Given the description of an element on the screen output the (x, y) to click on. 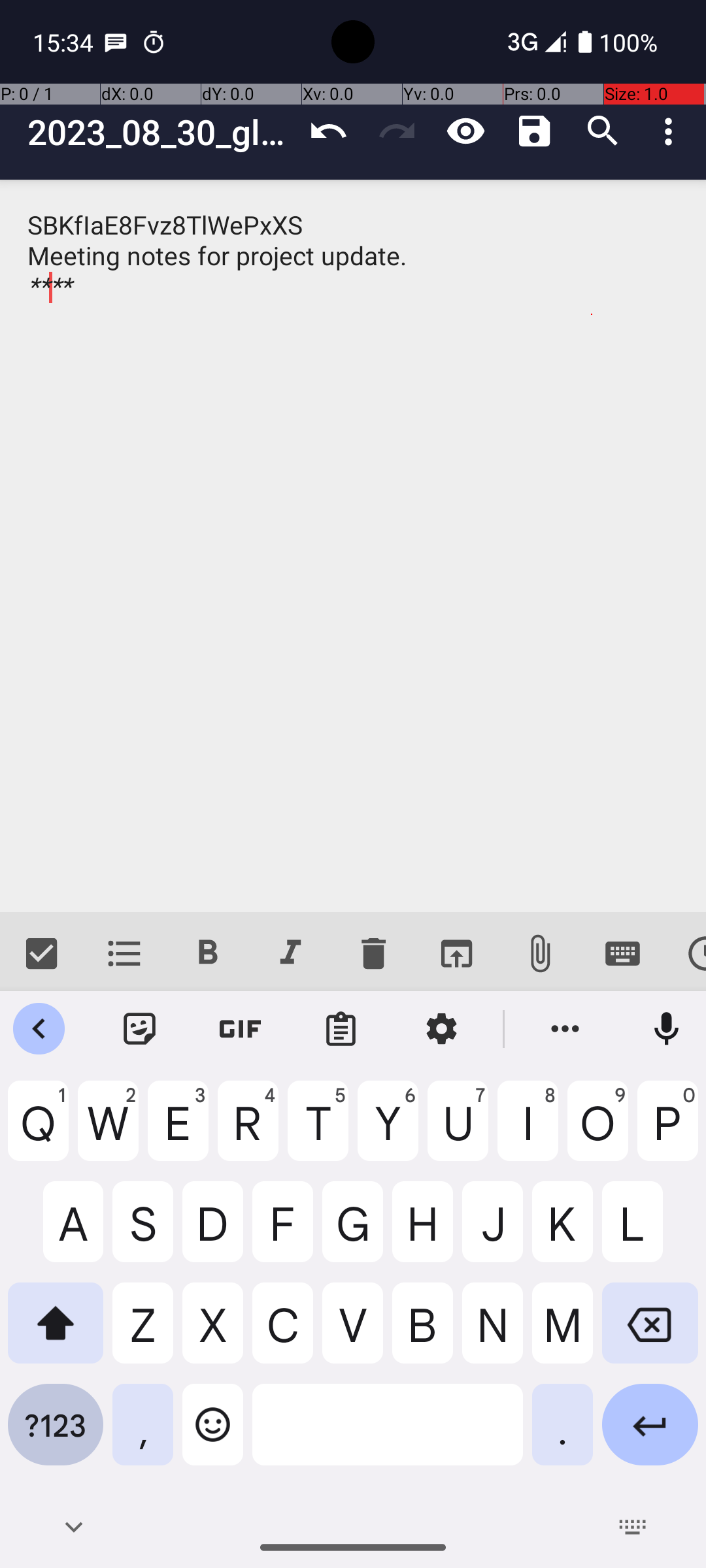
2023_08_30_glad_koala Element type: android.widget.TextView (160, 131)
SBKfIaE8Fvz8TlWePxXS
Meeting notes for project update.
**** Element type: android.widget.EditText (353, 545)
